Given the description of an element on the screen output the (x, y) to click on. 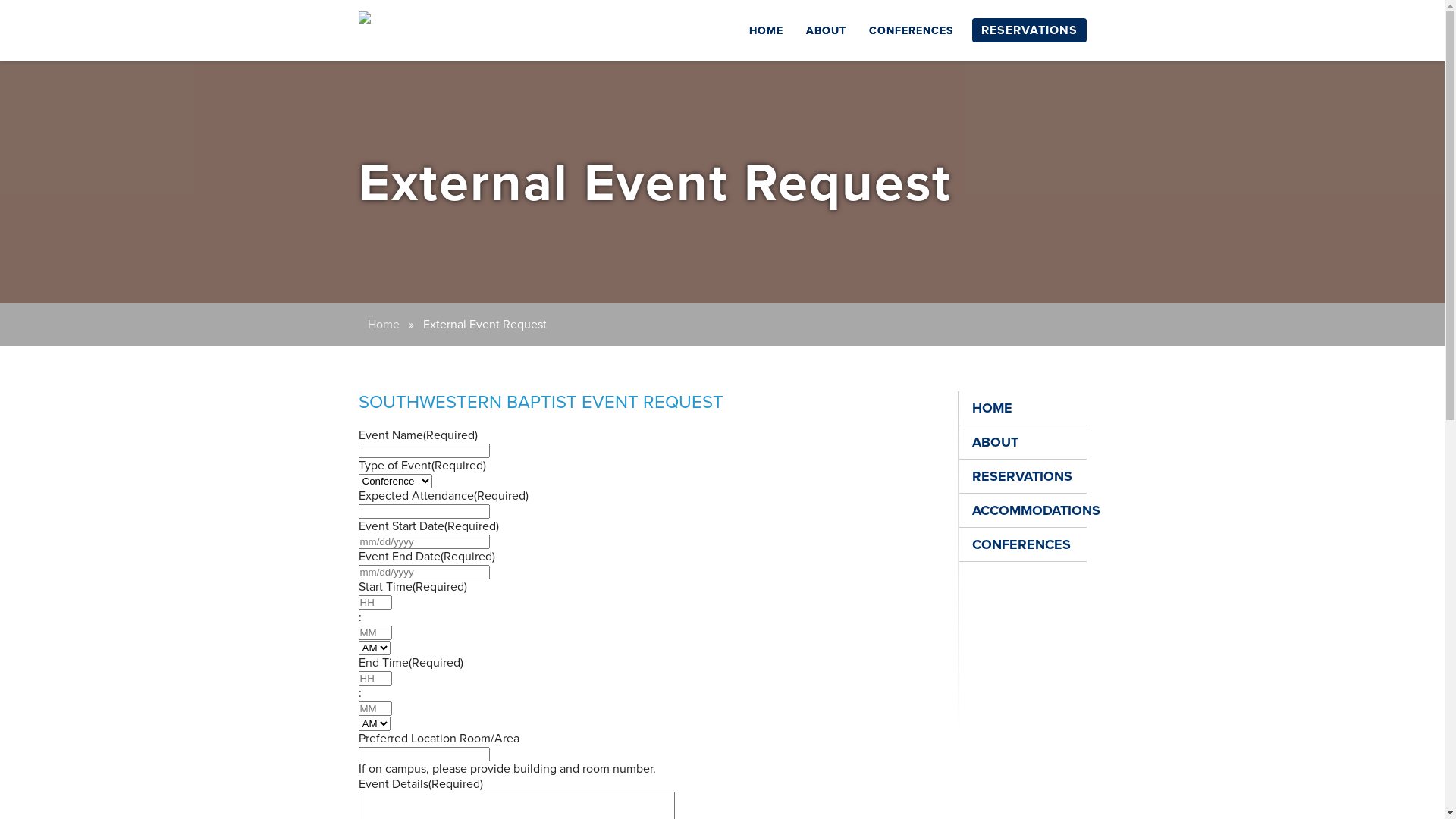
ACCOMMODATIONS Element type: text (1021, 510)
RESERVATIONS Element type: text (1021, 476)
RESERVATIONS Element type: text (1029, 30)
CONFERENCES Element type: text (1021, 544)
ABOUT Element type: text (825, 30)
ABOUT Element type: text (1021, 442)
HOME Element type: text (766, 30)
Home Element type: text (382, 324)
HOME Element type: text (1021, 408)
CONFERENCES Element type: text (910, 30)
